Given the description of an element on the screen output the (x, y) to click on. 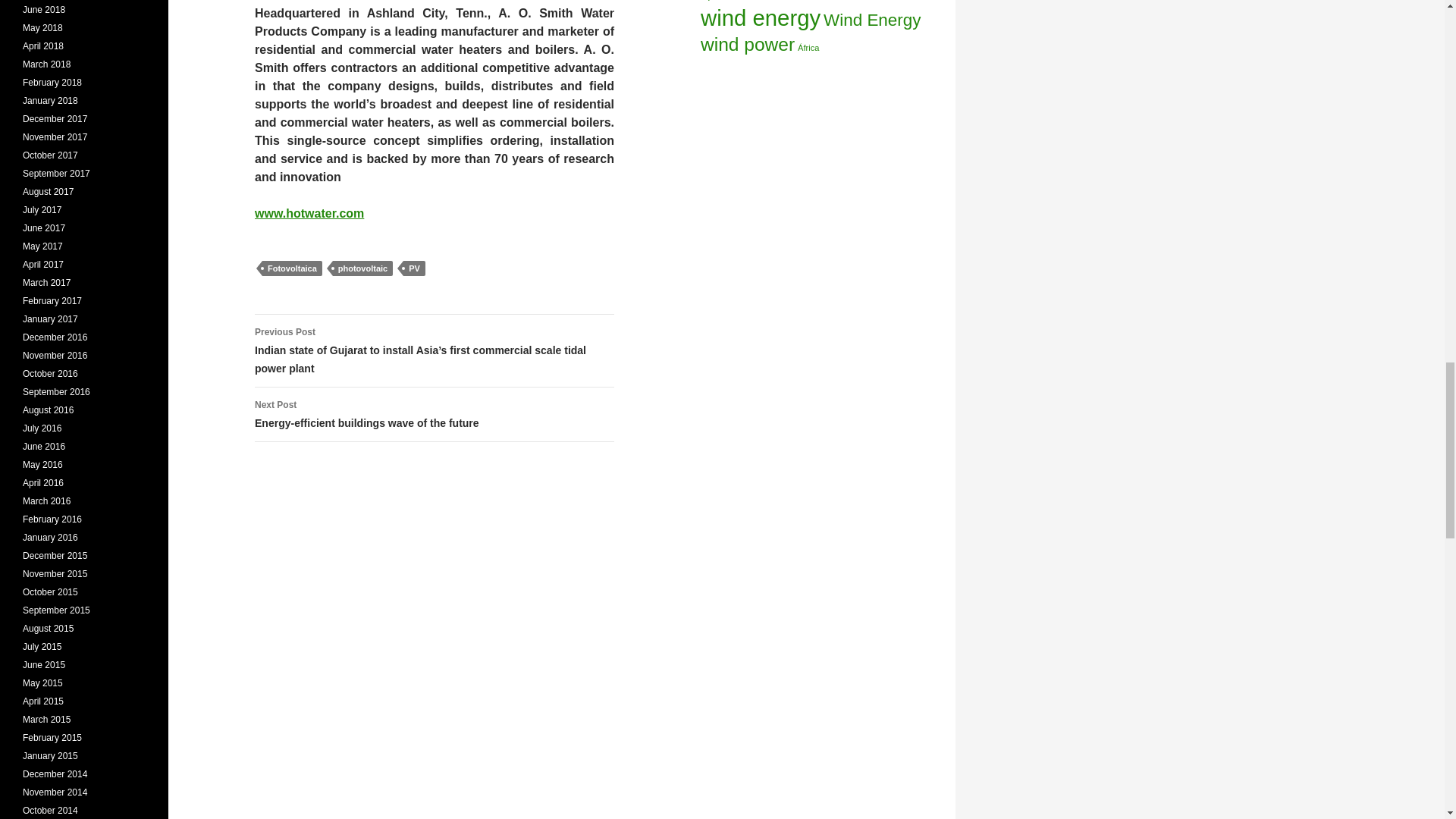
photovoltaic (363, 268)
Fotovoltaica (434, 414)
www.hotwater.com (291, 268)
PV (309, 213)
